Given the description of an element on the screen output the (x, y) to click on. 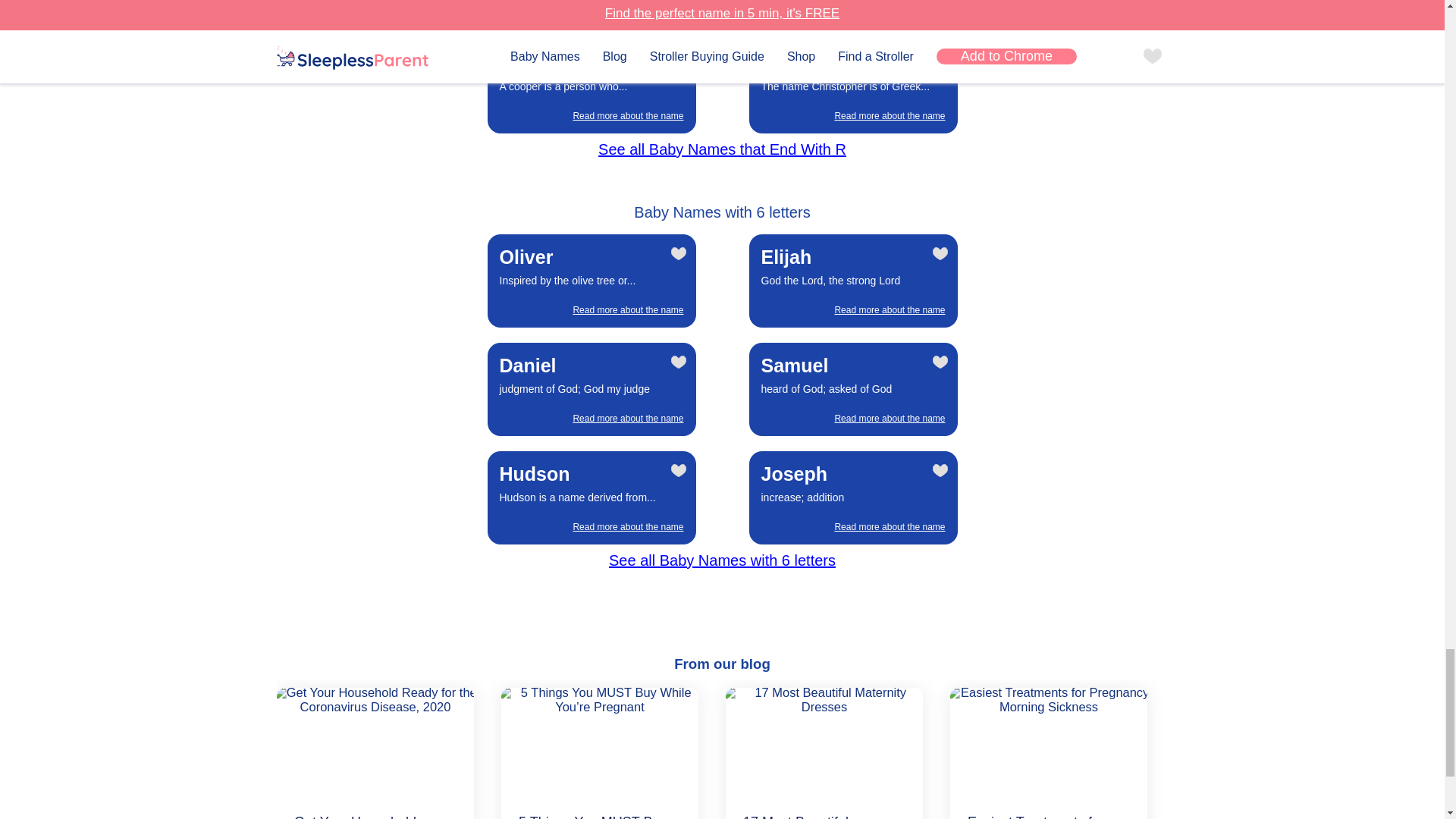
Easiest Treatments for Pregnancy Morning Sickness (1045, 743)
Get Your Household Ready for the Coronavirus Disease, 2020 (371, 743)
17 Most Beautiful Maternity Dresses (821, 743)
